Given the description of an element on the screen output the (x, y) to click on. 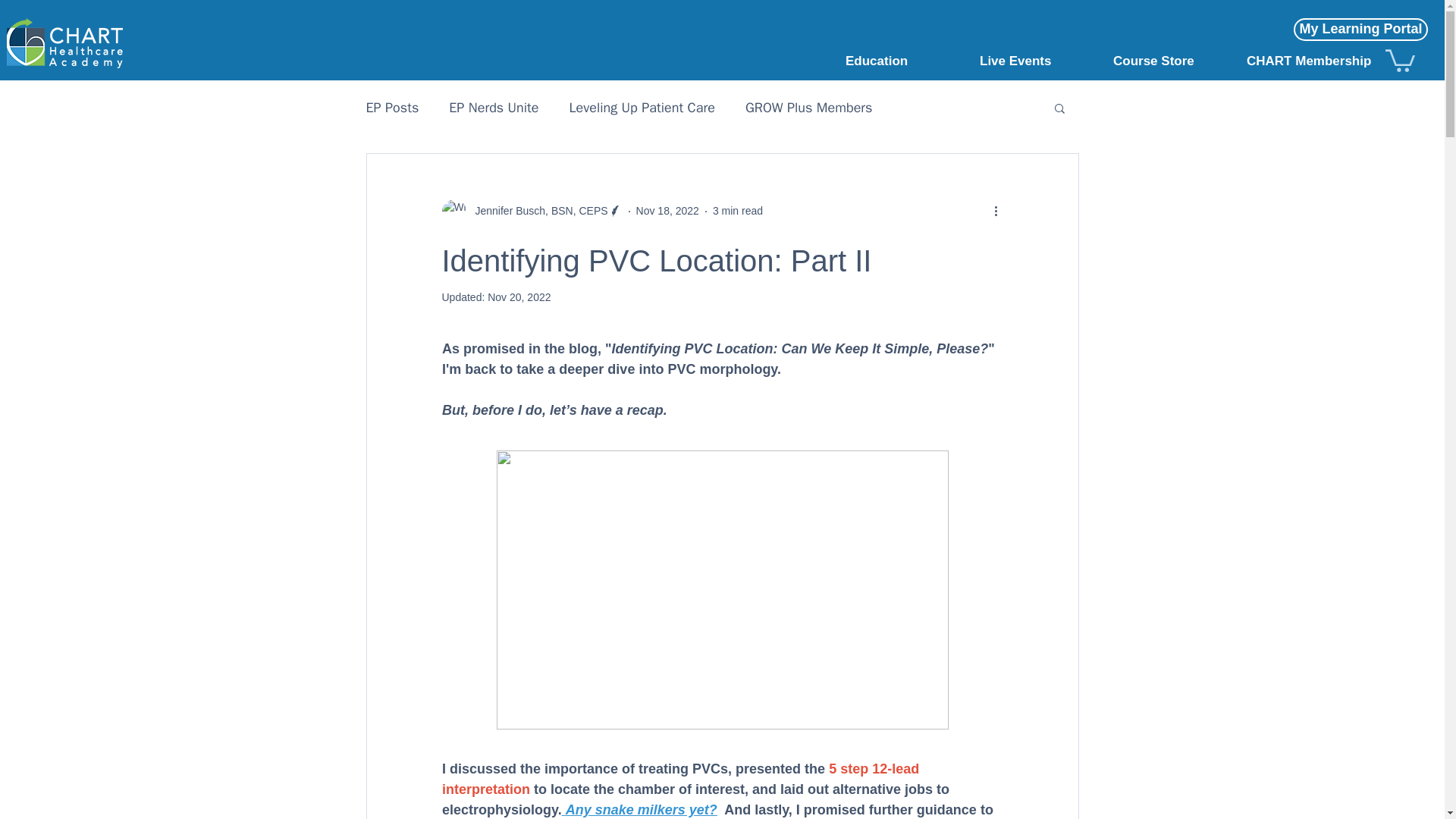
Live Events (1038, 59)
CHART Membership (1306, 59)
EP Posts (392, 107)
Nov 18, 2022 (667, 210)
EP Nerds Unite (493, 107)
Course Store (1172, 59)
Jennifer Busch, BSN, CEPS (536, 211)
Jennifer Busch, BSN, CEPS (531, 211)
My Learning Portal (1361, 29)
Nov 20, 2022 (518, 297)
3 min read (737, 210)
Education (905, 59)
Any snake milkers yet? (640, 809)
GROW Plus Members (808, 107)
Leveling Up Patient Care (641, 107)
